Given the description of an element on the screen output the (x, y) to click on. 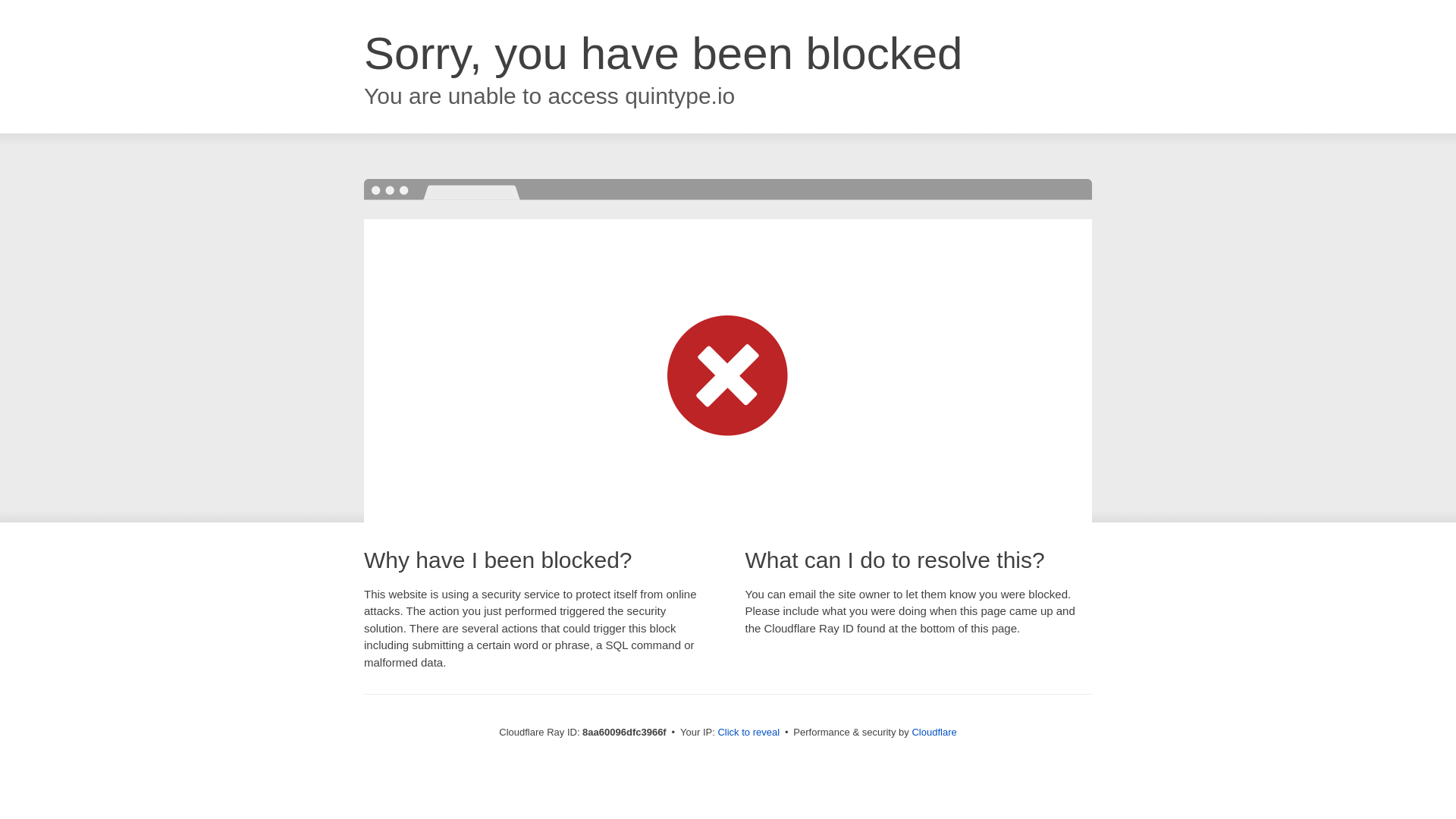
Click to reveal (747, 732)
Cloudflare (933, 731)
